Given the description of an element on the screen output the (x, y) to click on. 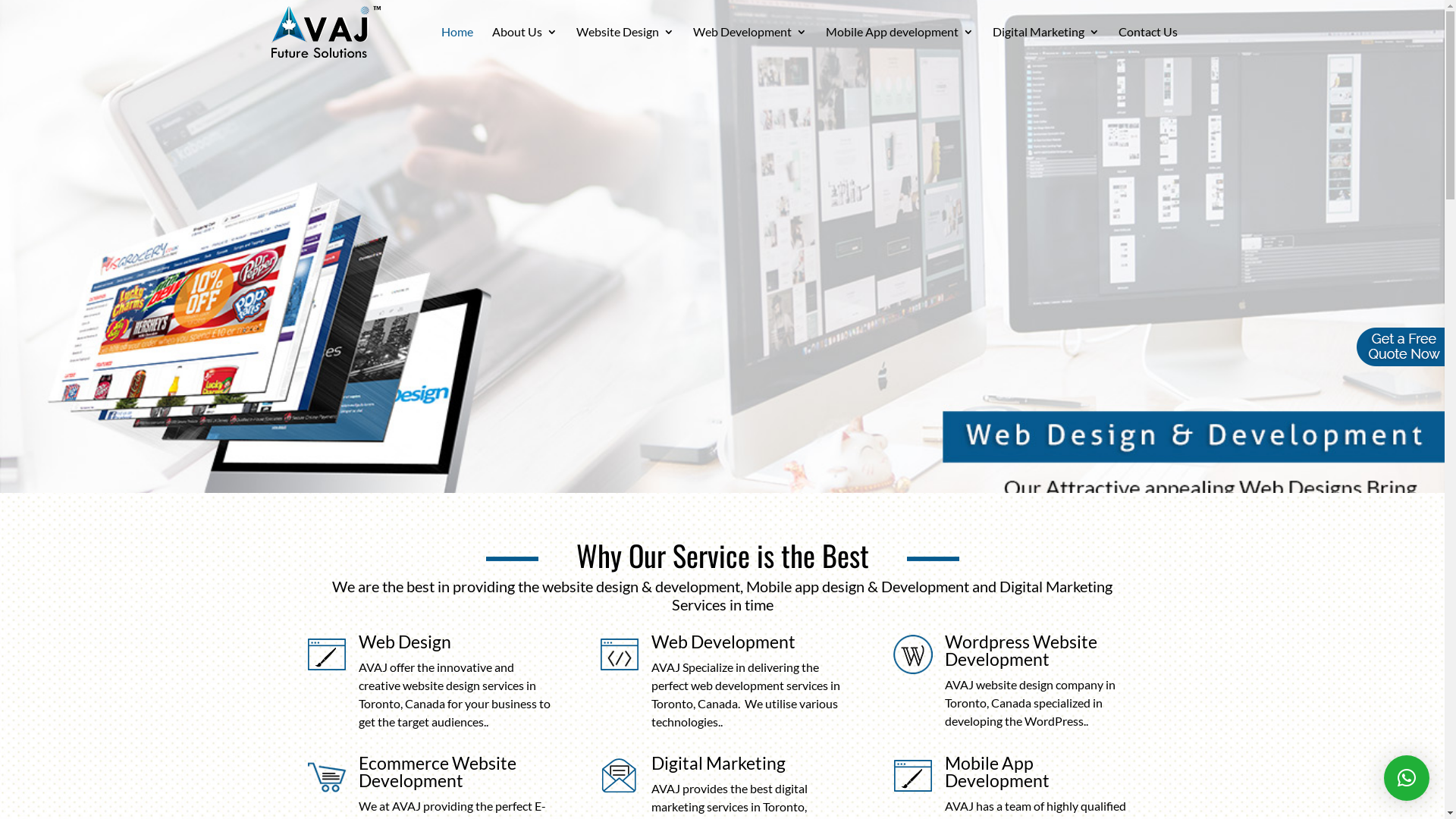
Mobile App Development Element type: text (996, 771)
Ecommerce Website Development Element type: text (436, 771)
Contact Us Element type: text (1146, 44)
Web Design Element type: text (403, 641)
Digital Marketing Element type: text (1044, 44)
Website Design Element type: text (625, 44)
Wordpress Website Development Element type: text (1020, 649)
Web Development Element type: text (723, 641)
About Us Element type: text (523, 44)
Mobile App development Element type: text (898, 44)
Digital Marketing Element type: text (718, 762)
Web Development Element type: text (749, 44)
Home Element type: text (457, 44)
